Given the description of an element on the screen output the (x, y) to click on. 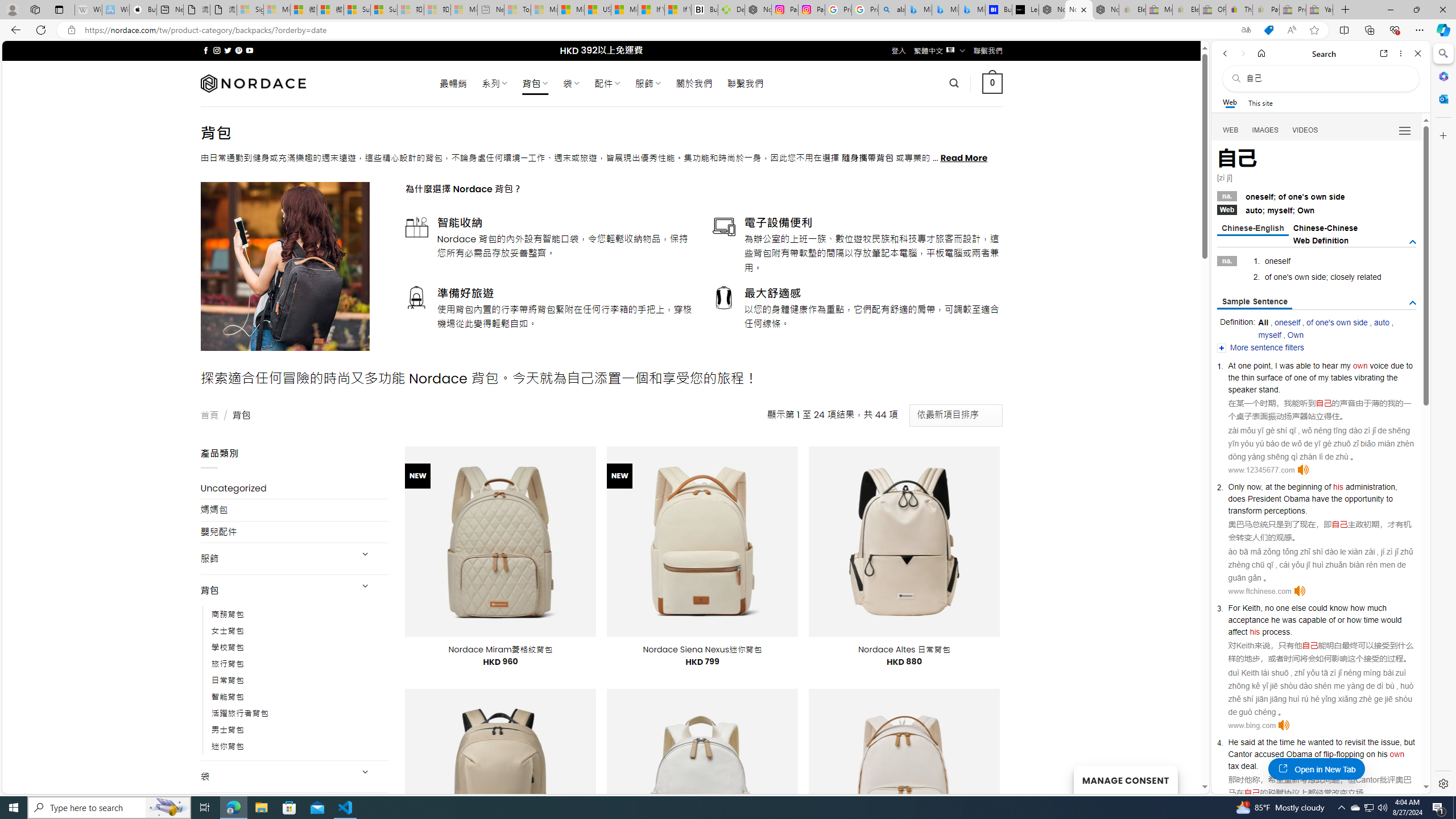
President (1264, 498)
hear (1330, 365)
Click to listen (1284, 724)
